Given the description of an element on the screen output the (x, y) to click on. 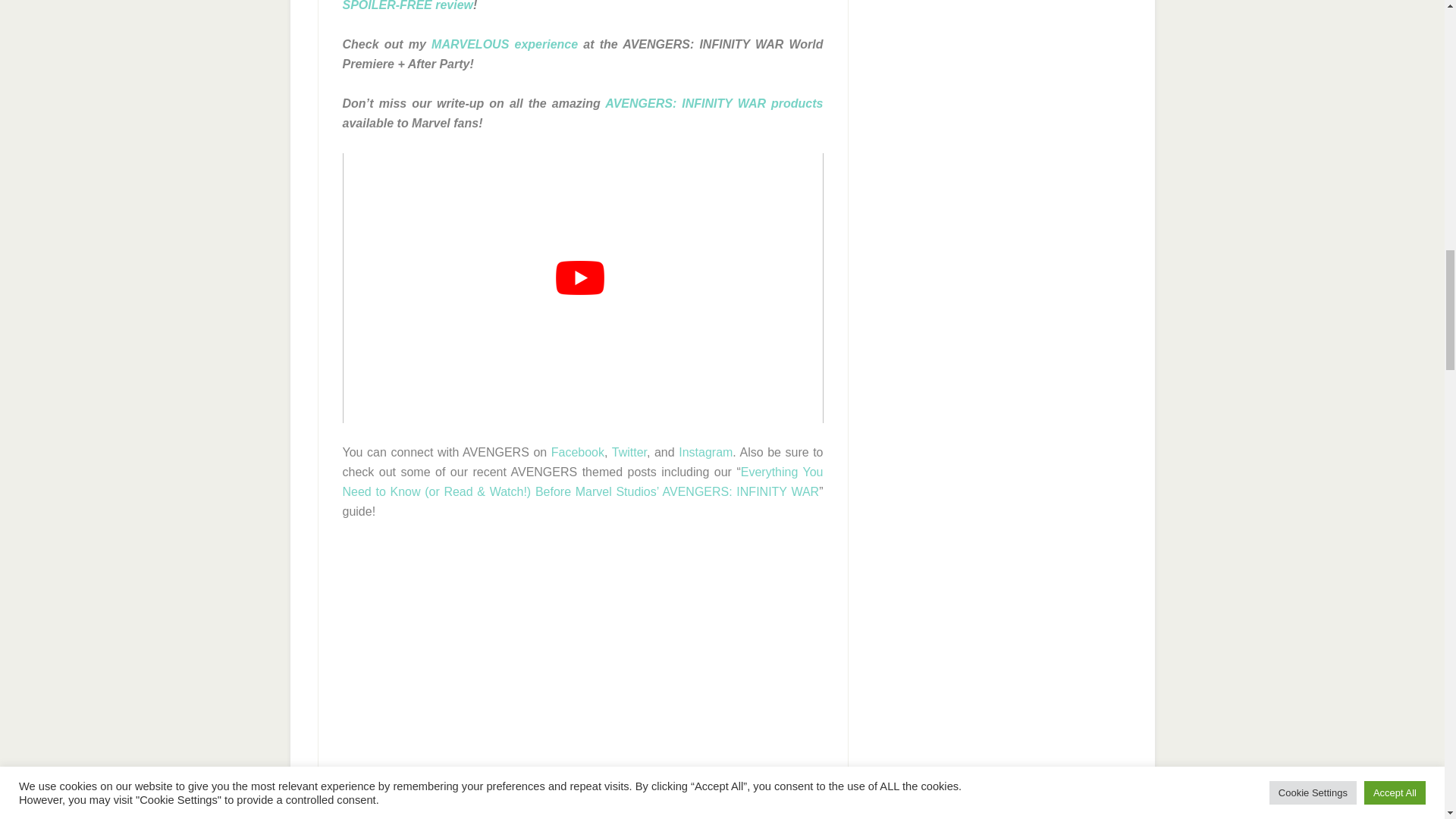
SPOILER-FREE review (408, 5)
AVENGERS: INFINITY WAR products (713, 103)
Twitter (628, 451)
Facebook (577, 451)
MARVELOUS experience (504, 43)
Instagram (705, 451)
